Given the description of an element on the screen output the (x, y) to click on. 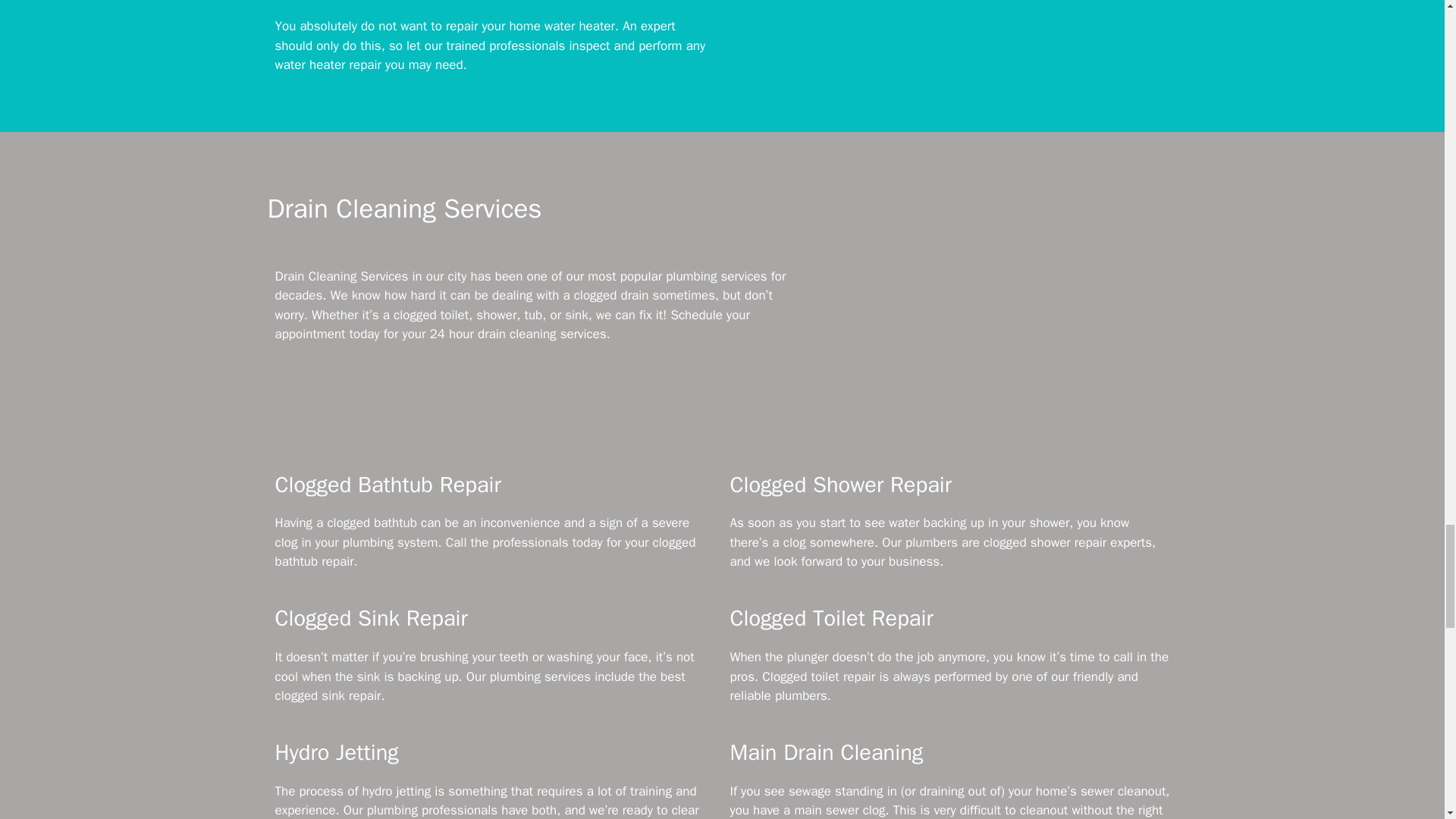
Avantel Plumbing Drain Cleaning and Water Heater Services (994, 342)
